Given the description of an element on the screen output the (x, y) to click on. 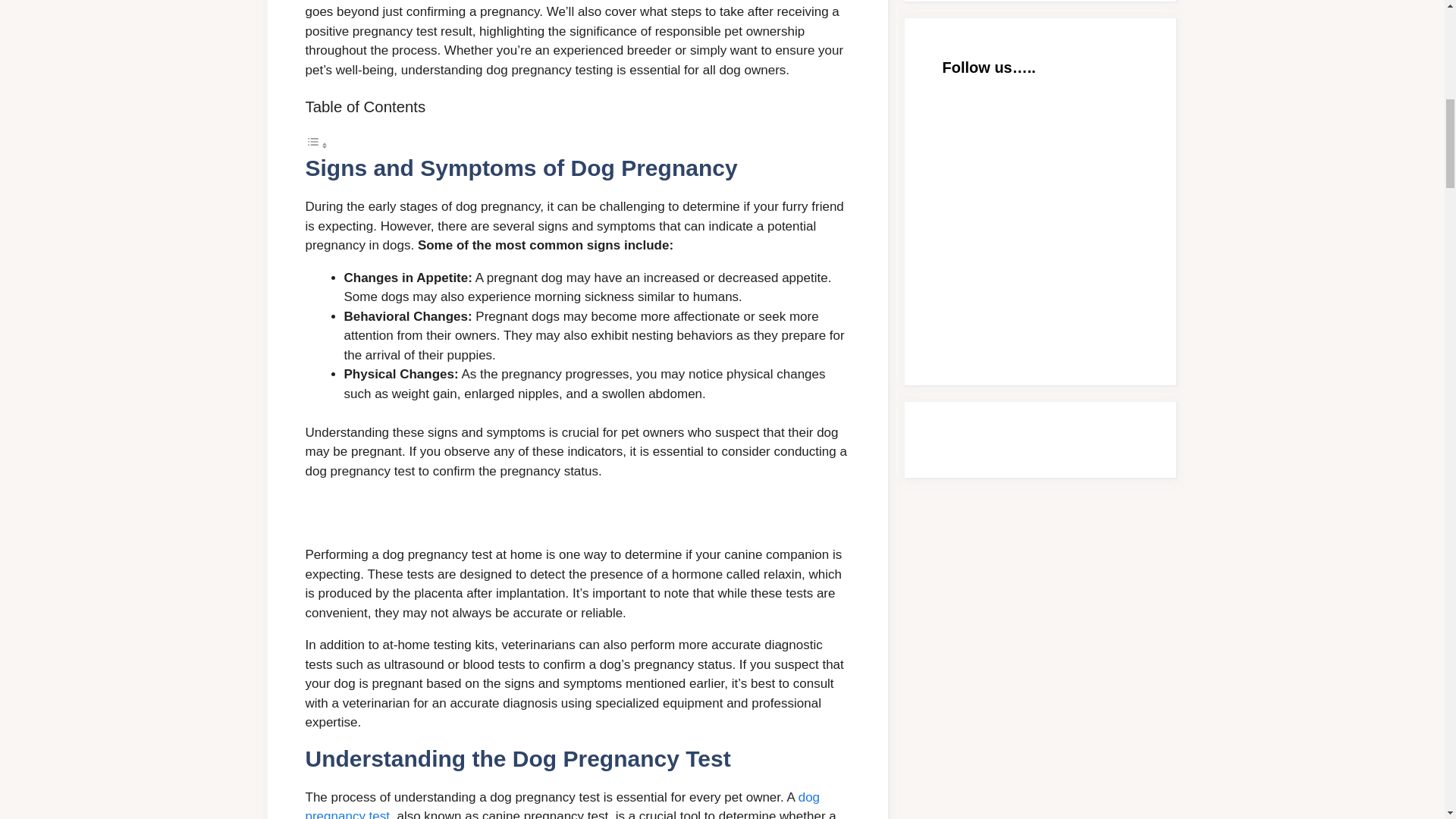
Email (1055, 158)
dog pregnancy test (561, 804)
Facebook (1055, 284)
